Given the description of an element on the screen output the (x, y) to click on. 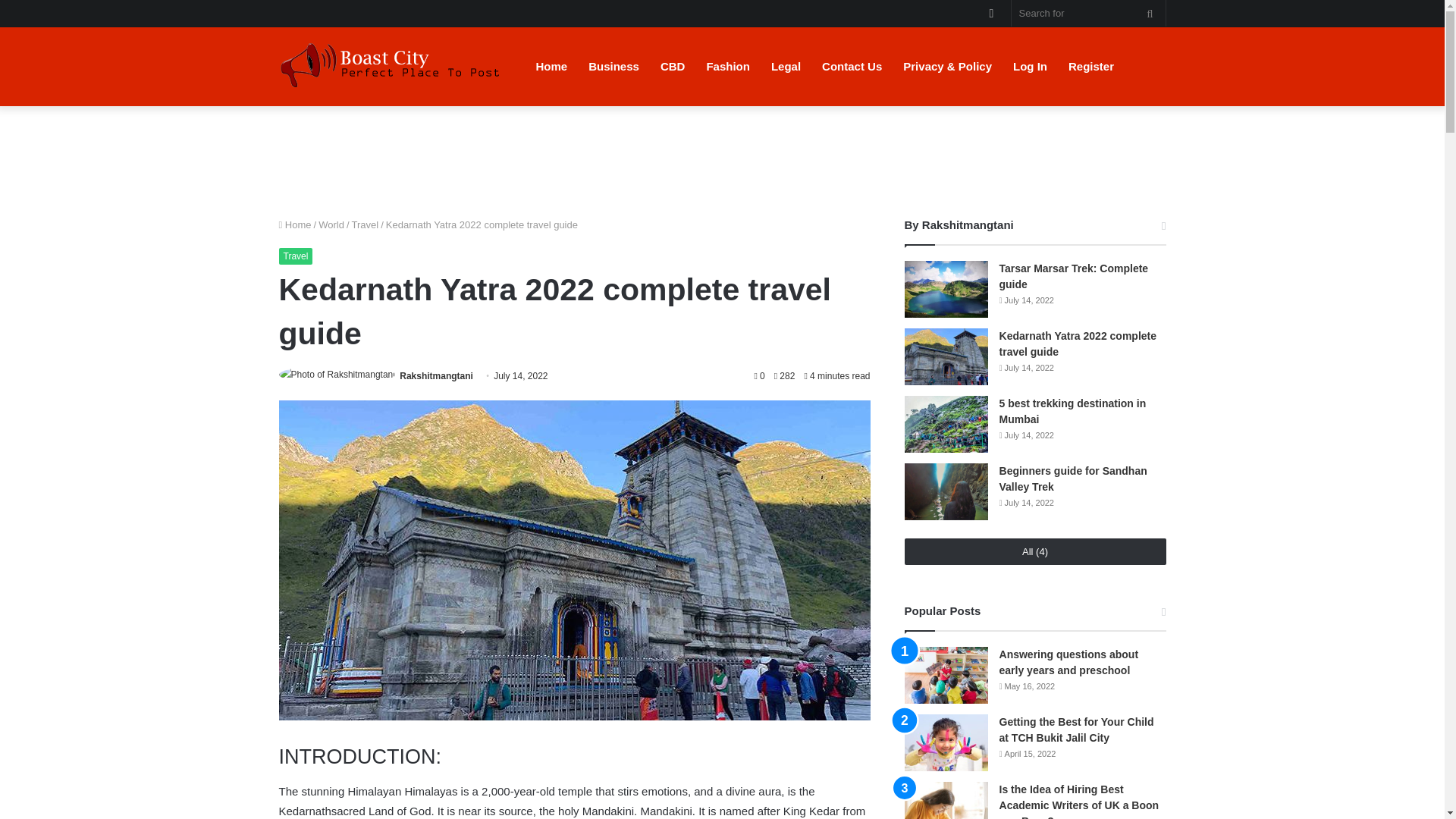
Search for (1088, 13)
Travel (365, 224)
Advertisement (721, 155)
Contact Us (851, 66)
Business (613, 66)
Rakshitmangtani (435, 376)
Travel (296, 256)
Home (295, 224)
Rakshitmangtani (435, 376)
World (330, 224)
Search for (1149, 13)
Boast City (392, 65)
